Given the description of an element on the screen output the (x, y) to click on. 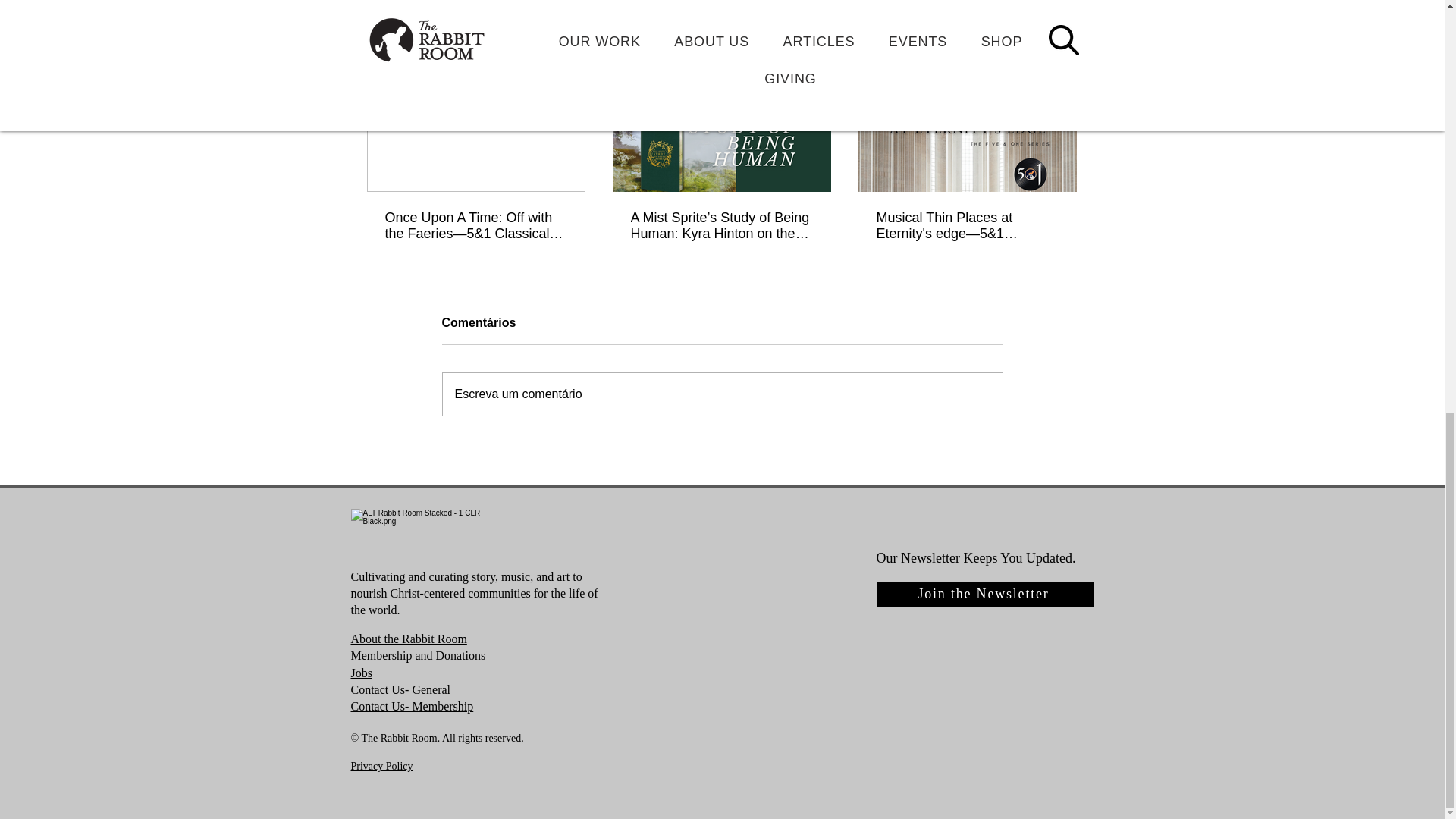
See All (1061, 42)
Join the Newsletter (985, 593)
About the Rabbit Room (407, 638)
